Given the description of an element on the screen output the (x, y) to click on. 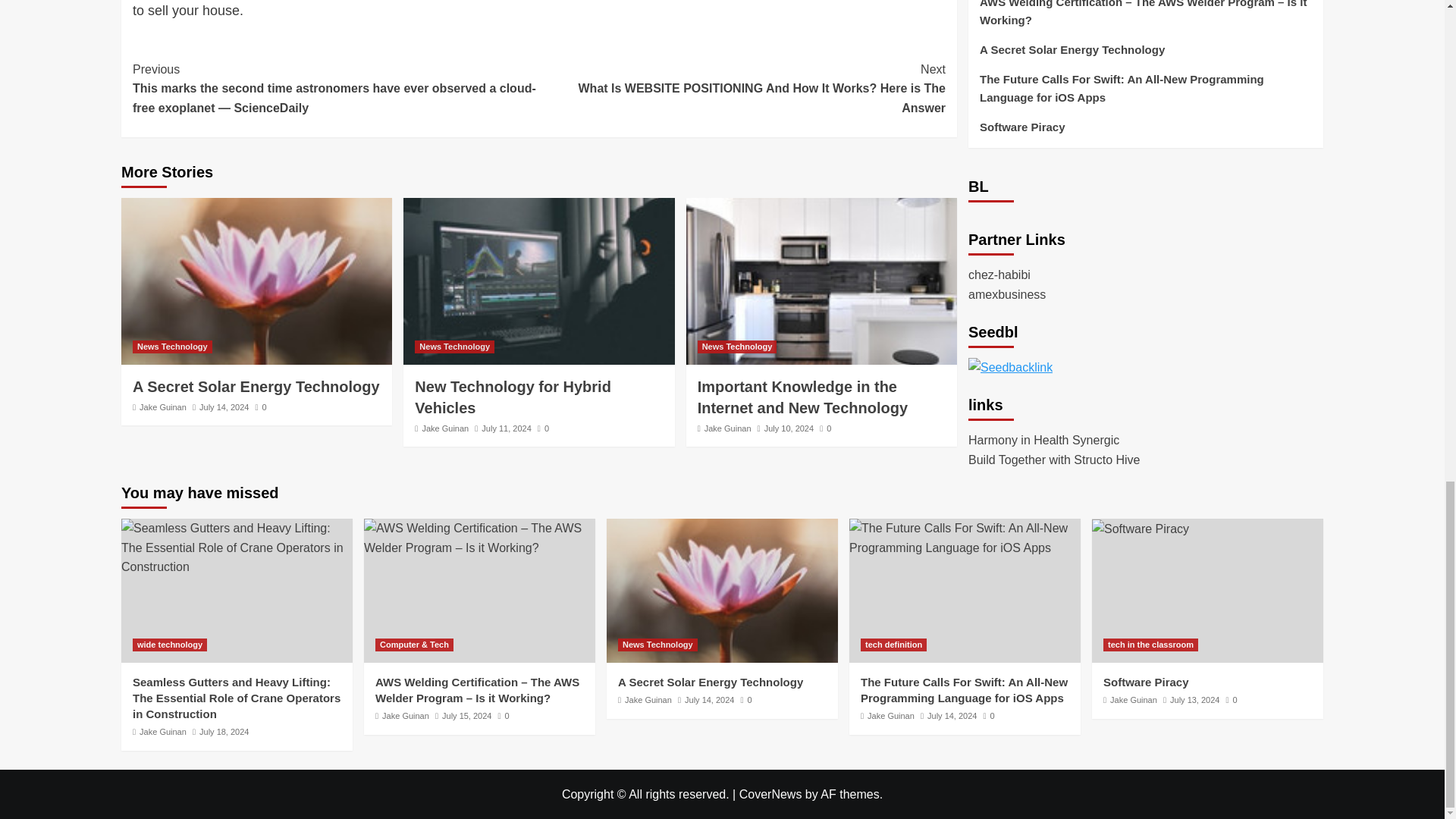
A Secret Solar Energy Technology (255, 281)
New Technology for Hybrid Vehicles (538, 281)
0 (261, 406)
A Secret Solar Energy Technology (722, 590)
Seedbacklink (1010, 260)
New Technology for Hybrid Vehicles (512, 397)
A Secret Solar Energy Technology (256, 386)
0 (542, 428)
Jake Guinan (162, 406)
